Given the description of an element on the screen output the (x, y) to click on. 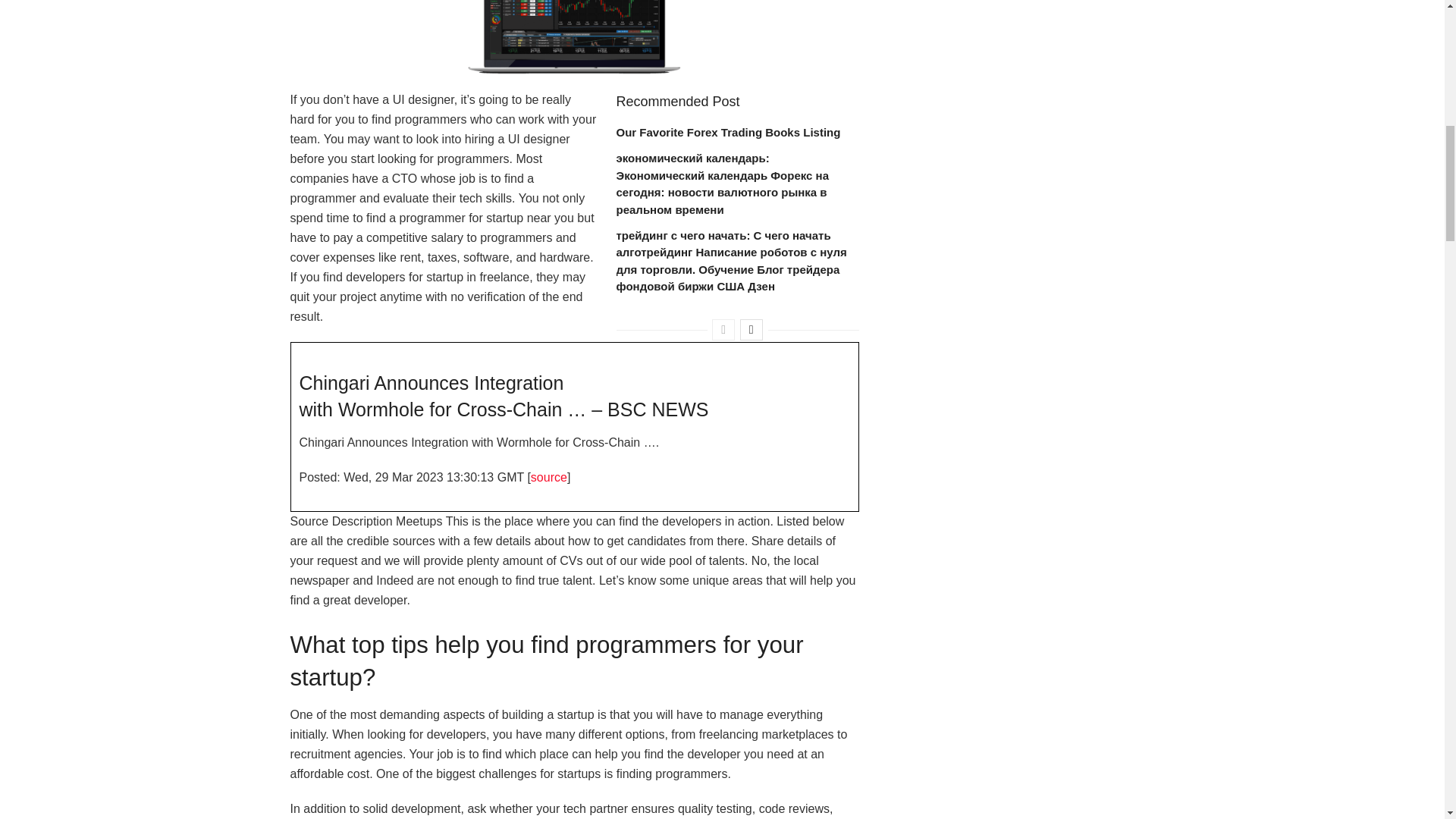
Our Favorite Forex Trading Books Listing (727, 132)
Next (750, 329)
source (549, 476)
Previous (723, 329)
